Given the description of an element on the screen output the (x, y) to click on. 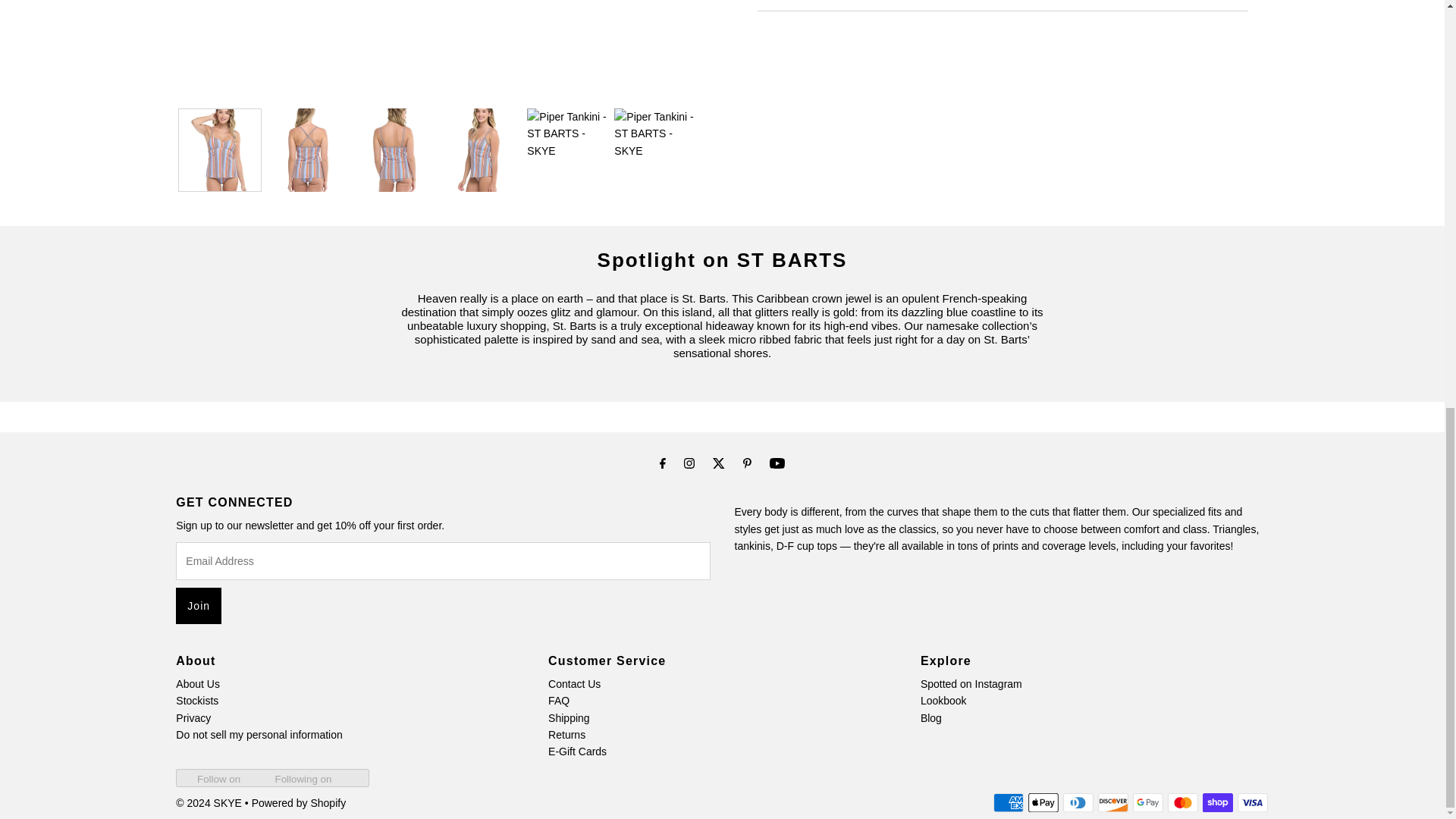
Youtube (777, 463)
Join (198, 606)
American Express (1007, 802)
Apple Pay (1042, 802)
Diners Club (1077, 802)
Discover (1112, 802)
